Given the description of an element on the screen output the (x, y) to click on. 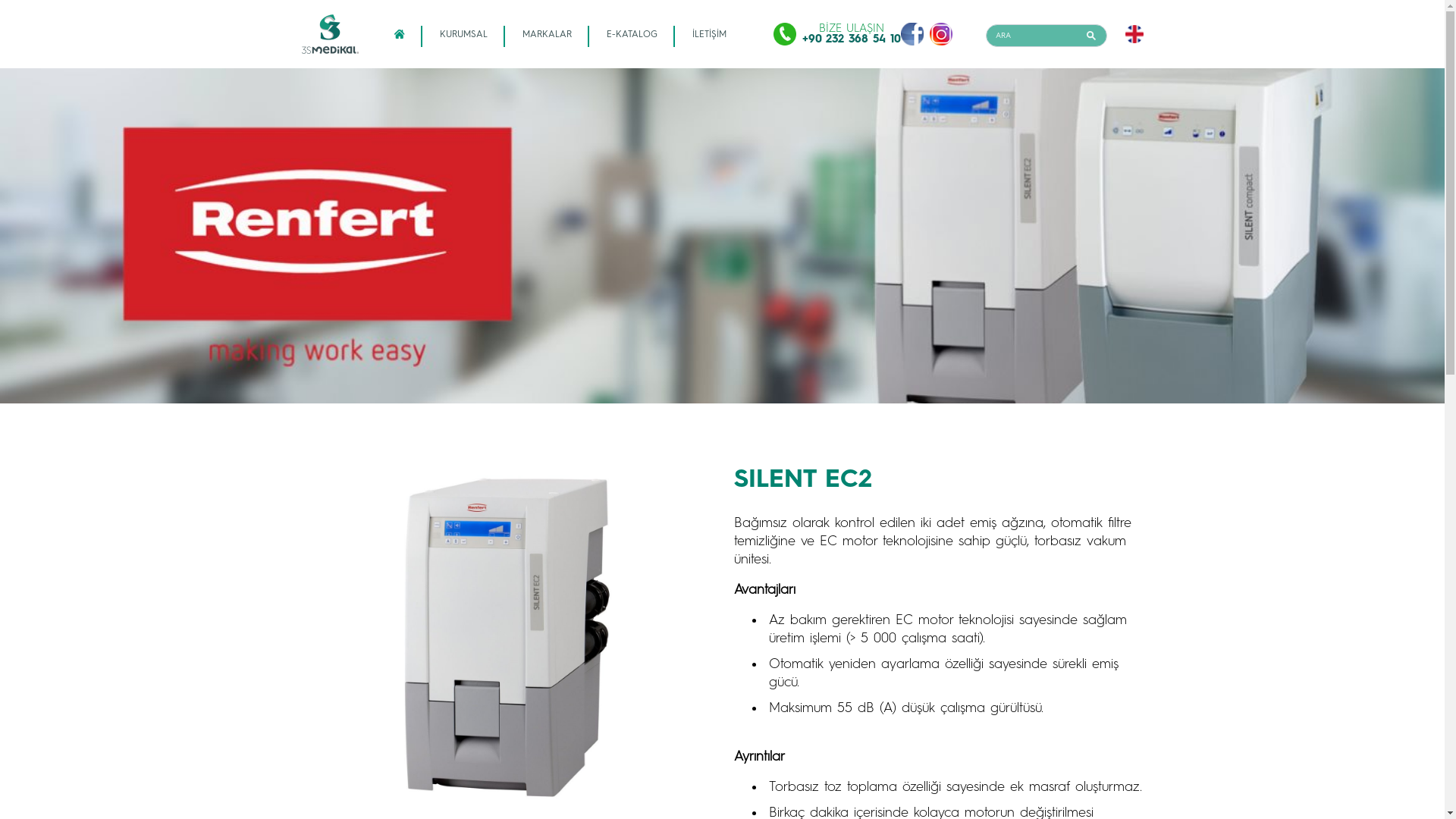
MARKALAR Element type: text (546, 33)
+90 232 368 54 10 Element type: text (851, 39)
E-KATALOG Element type: text (631, 33)
KURUMSAL Element type: text (463, 33)
